Given the description of an element on the screen output the (x, y) to click on. 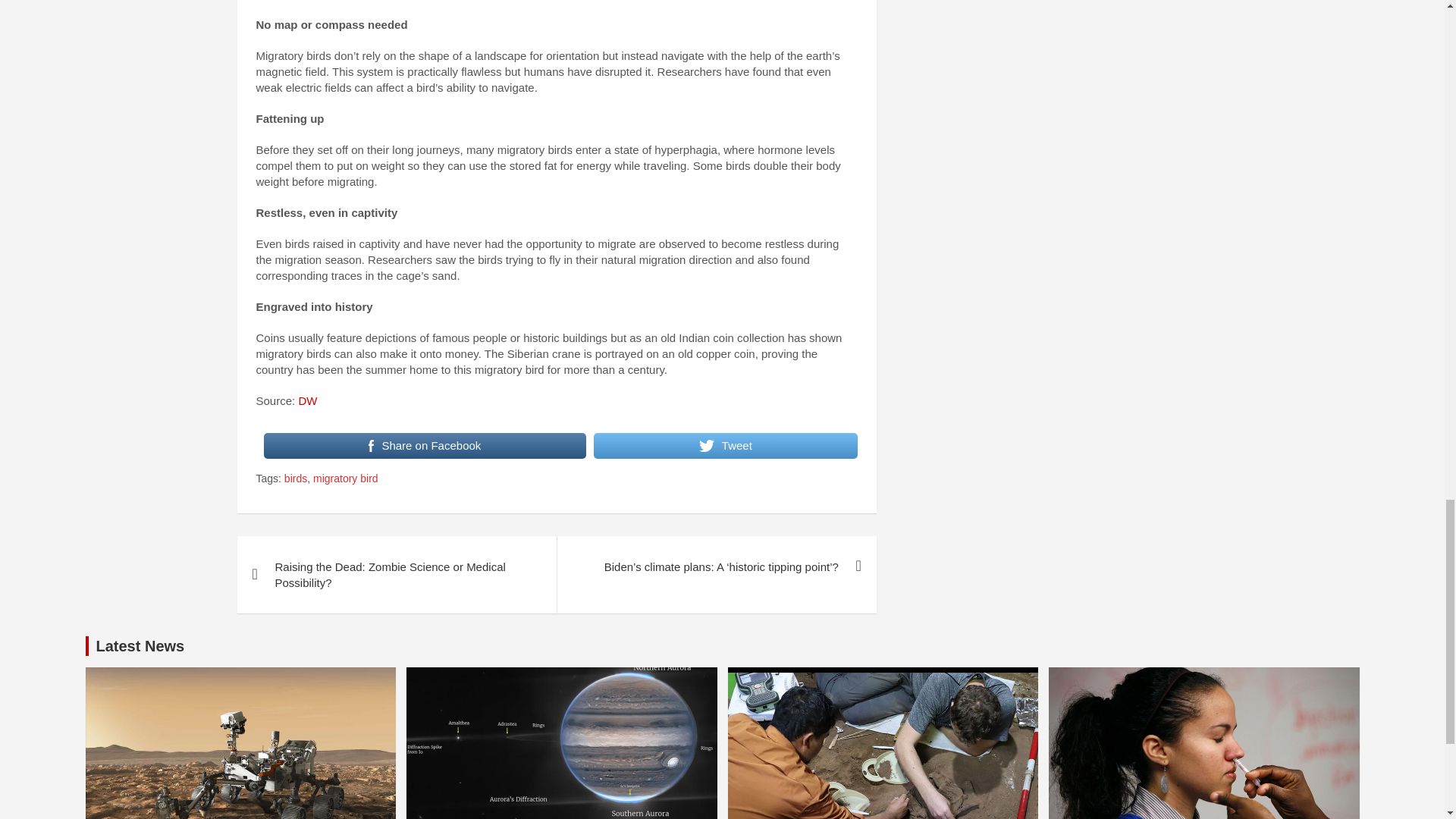
DW (307, 400)
Raising the Dead: Zombie Science or Medical Possibility? (395, 574)
migratory bird (345, 478)
Share on Facebook (424, 445)
birds (295, 478)
Tweet (725, 445)
